Given the description of an element on the screen output the (x, y) to click on. 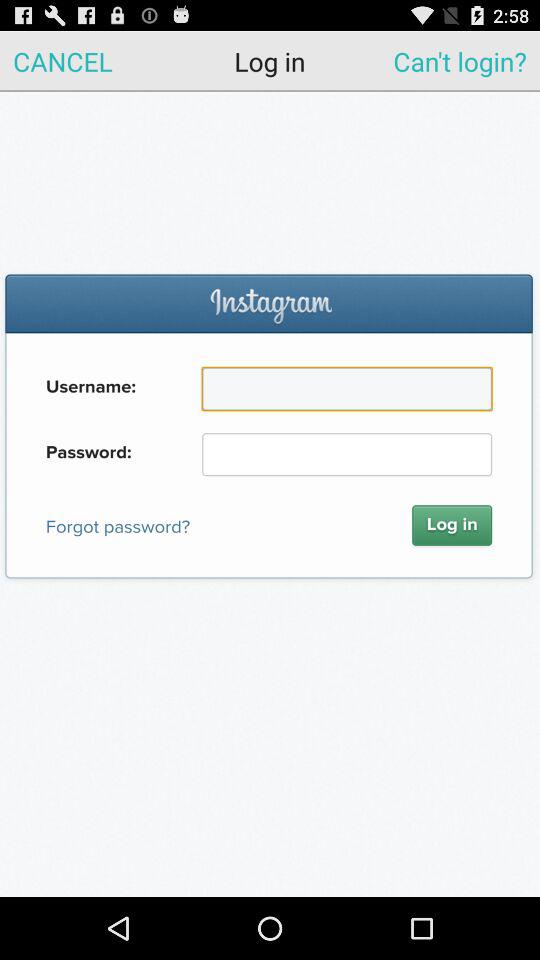
login menu (270, 494)
